Given the description of an element on the screen output the (x, y) to click on. 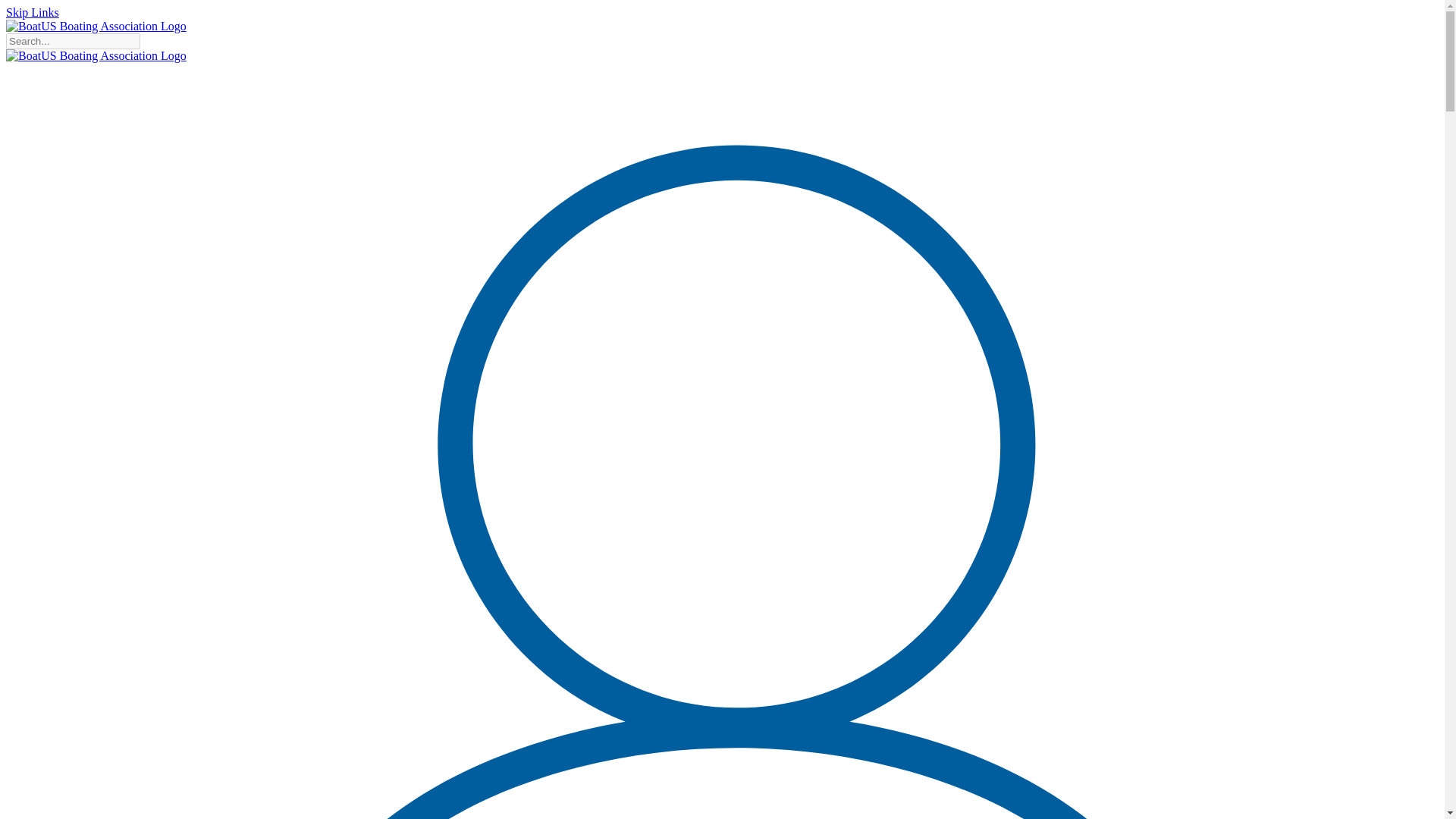
Skip main navigation links (32, 11)
Skip Links (32, 11)
